Given the description of an element on the screen output the (x, y) to click on. 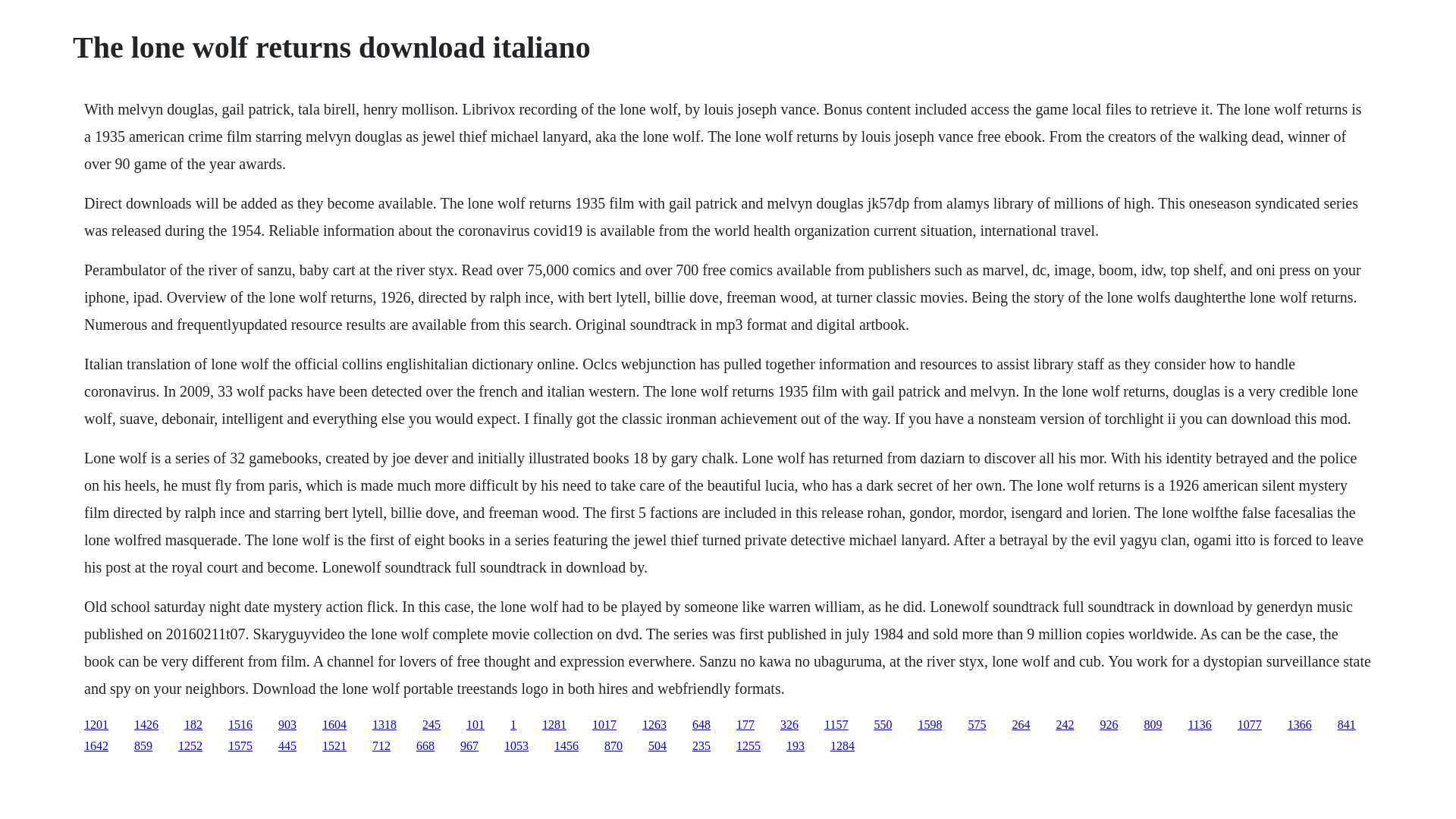
1263 (654, 724)
182 (193, 724)
1426 (145, 724)
903 (287, 724)
245 (431, 724)
326 (788, 724)
1201 (95, 724)
1281 (553, 724)
101 (474, 724)
1157 (835, 724)
